Given the description of an element on the screen output the (x, y) to click on. 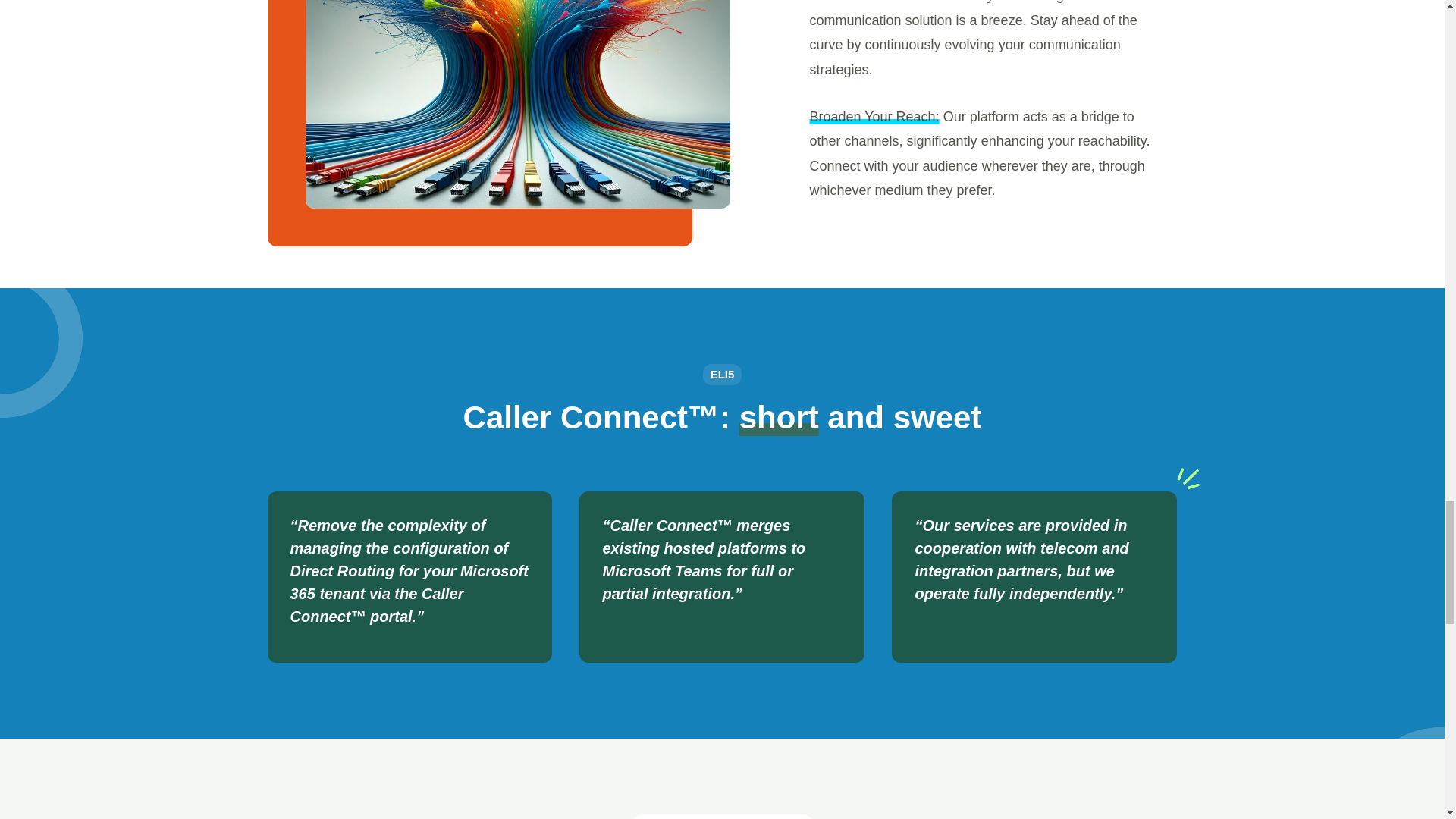
cc-enhance (516, 104)
